Given the description of an element on the screen output the (x, y) to click on. 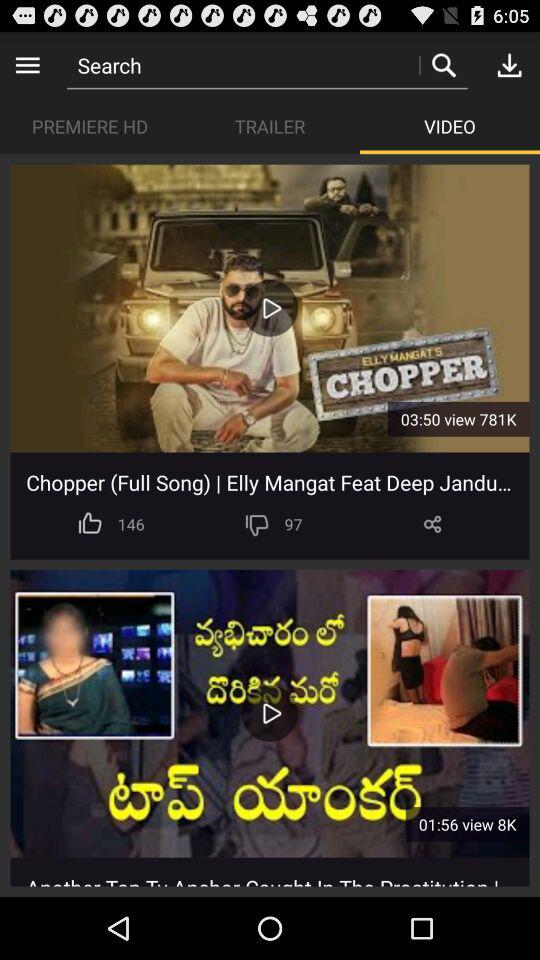
click the icon to the left of search icon (27, 64)
